Given the description of an element on the screen output the (x, y) to click on. 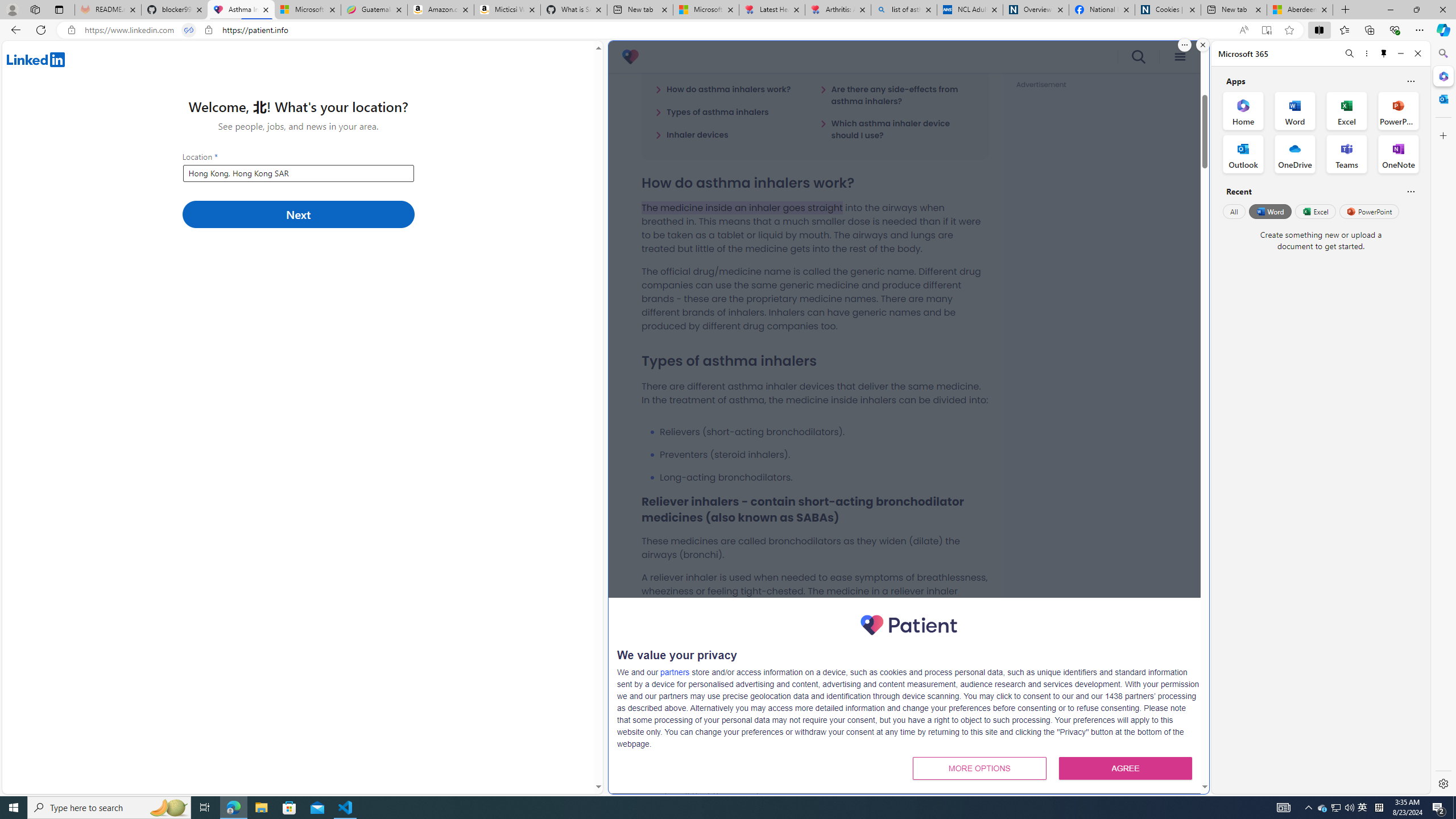
salbutamol (865, 640)
Publisher Logo (908, 624)
Excel Office App (1346, 110)
AGREE (1125, 767)
